Given the description of an element on the screen output the (x, y) to click on. 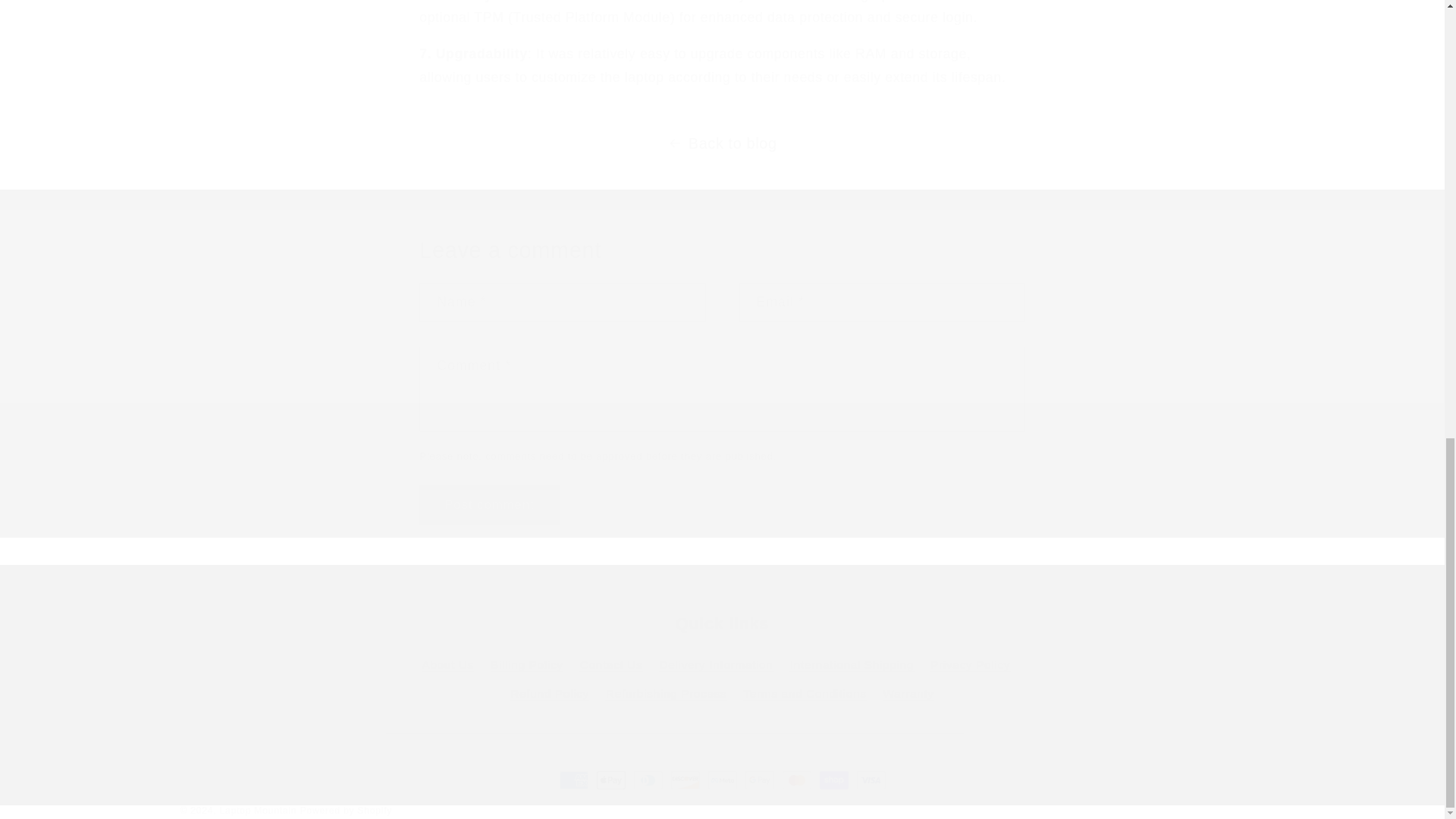
Contact Us (611, 665)
International Shipping (852, 665)
Post comment (489, 504)
Post comment (489, 504)
Delivery Information (716, 665)
About Us (448, 667)
Privacy Policy (970, 665)
Billing Policy (526, 665)
Refund Policy (550, 693)
